Given the description of an element on the screen output the (x, y) to click on. 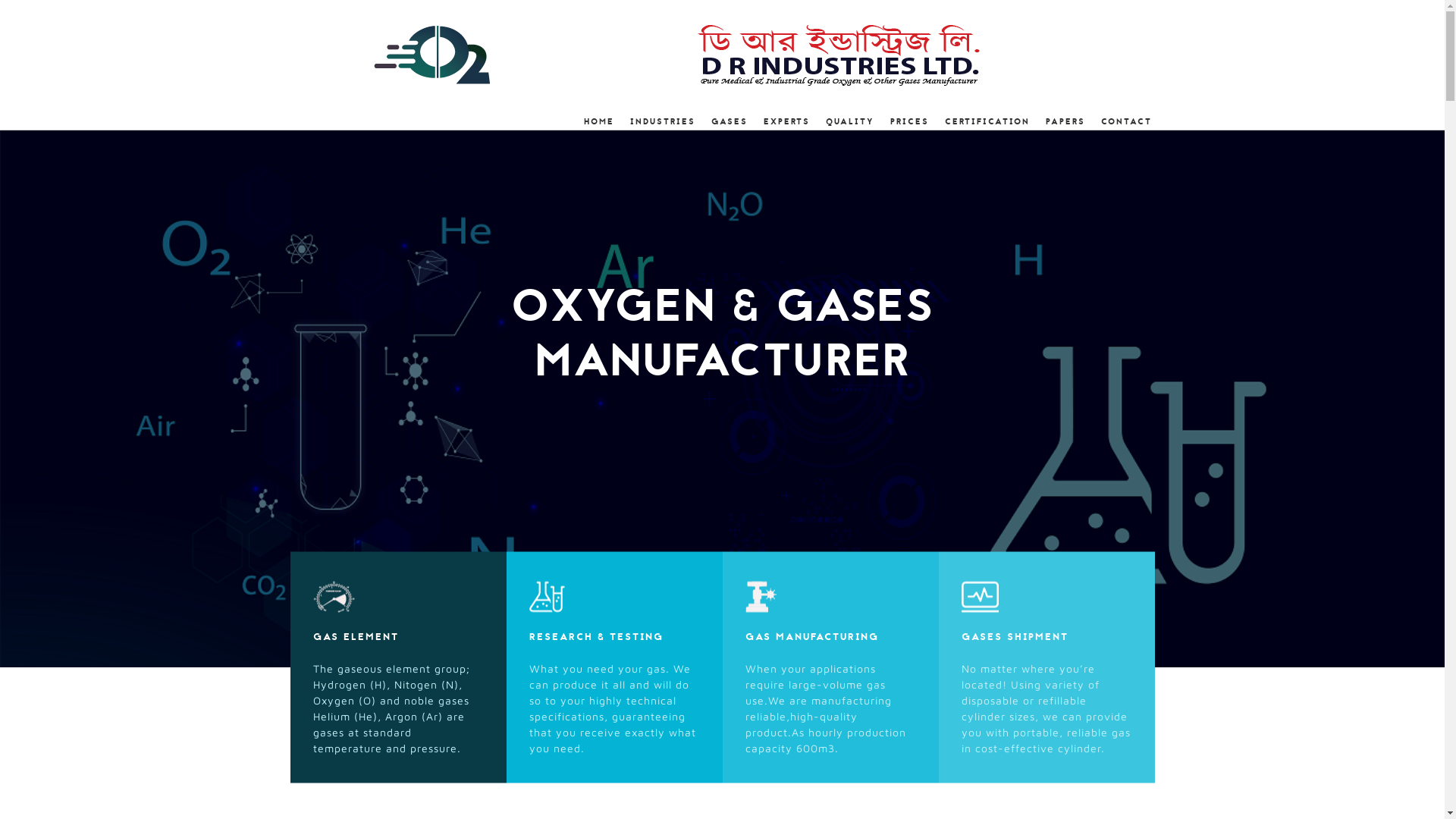
QUALITY Element type: text (848, 120)
PAPERS Element type: text (1064, 120)
CERTIFICATION Element type: text (985, 120)
INDUSTRIES Element type: text (661, 120)
EXPERTS Element type: text (785, 120)
CONTACT Element type: text (1124, 120)
HOME Element type: text (596, 120)
PRICES Element type: text (907, 120)
GASES Element type: text (727, 120)
